Given the description of an element on the screen output the (x, y) to click on. 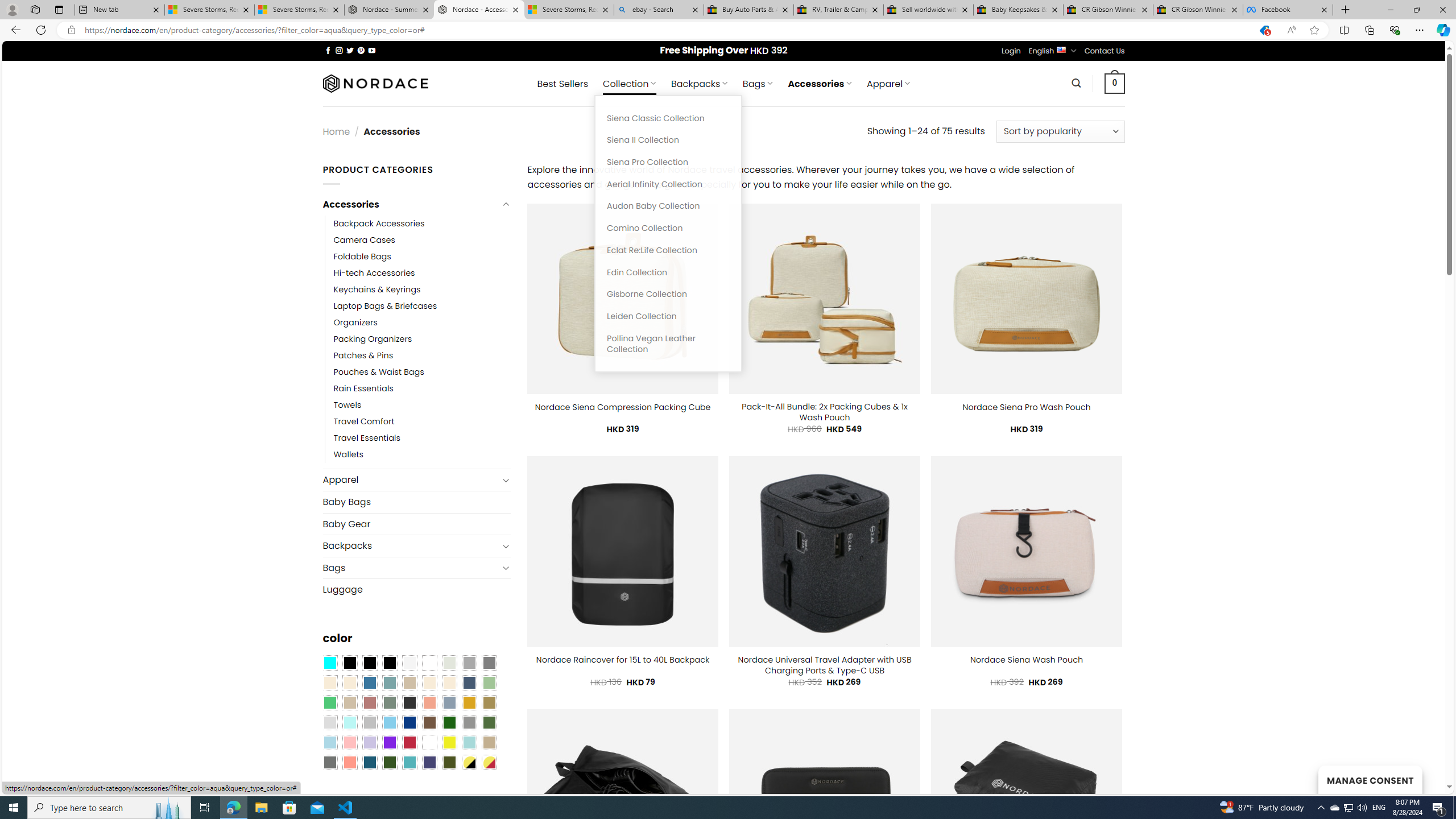
Siena Pro Collection (668, 162)
Patches & Pins (422, 355)
Baby Bags (416, 501)
Nordace Siena Compression Packing Cube (622, 406)
Silver (369, 721)
Siena Classic Collection (668, 118)
Nordace Siena Wash Pouch (1026, 659)
Bags (410, 567)
Edin Collection (668, 272)
Travel Comfort (363, 421)
Yellow (449, 741)
